Given the description of an element on the screen output the (x, y) to click on. 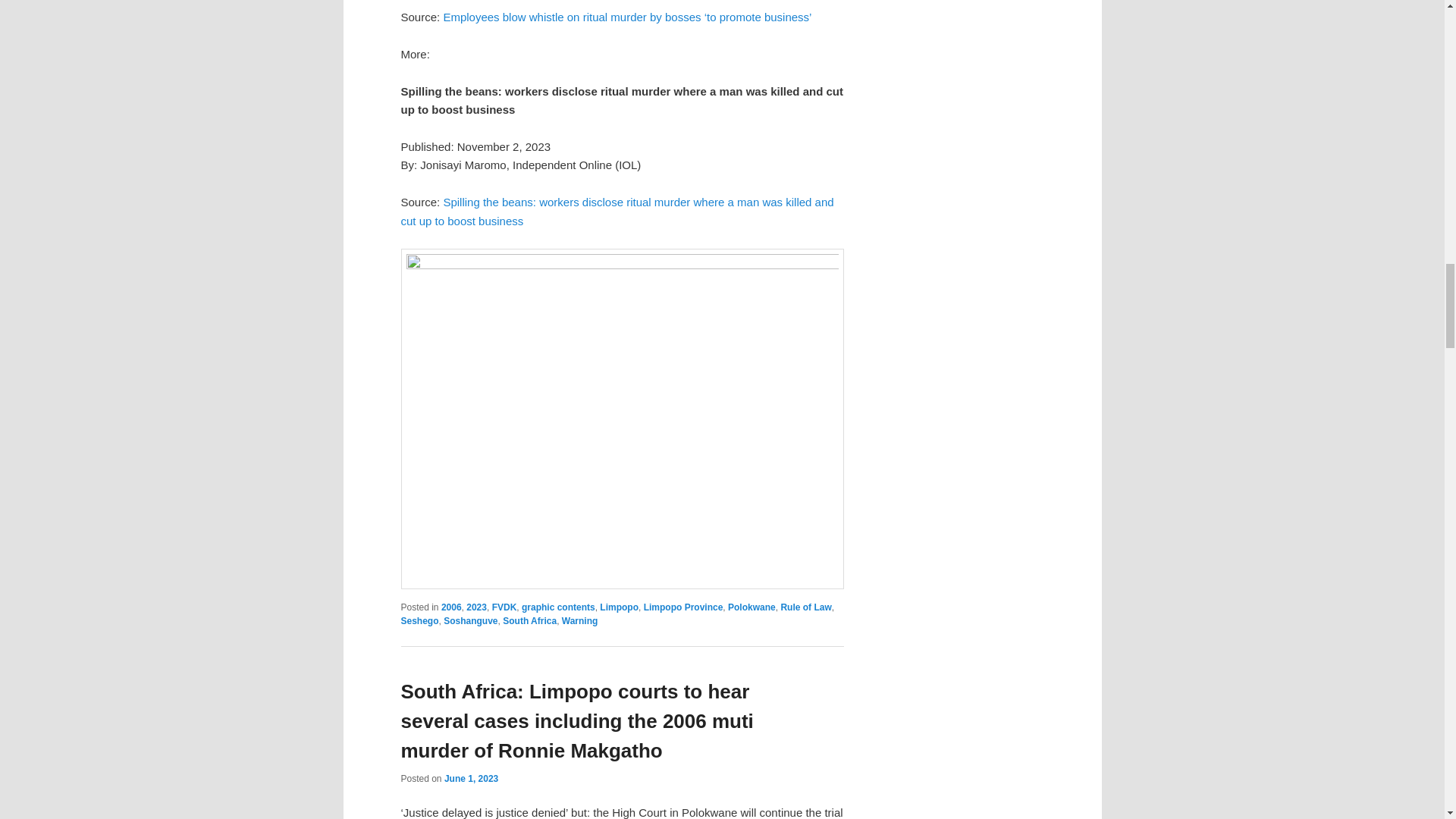
08:14 (470, 778)
